Given the description of an element on the screen output the (x, y) to click on. 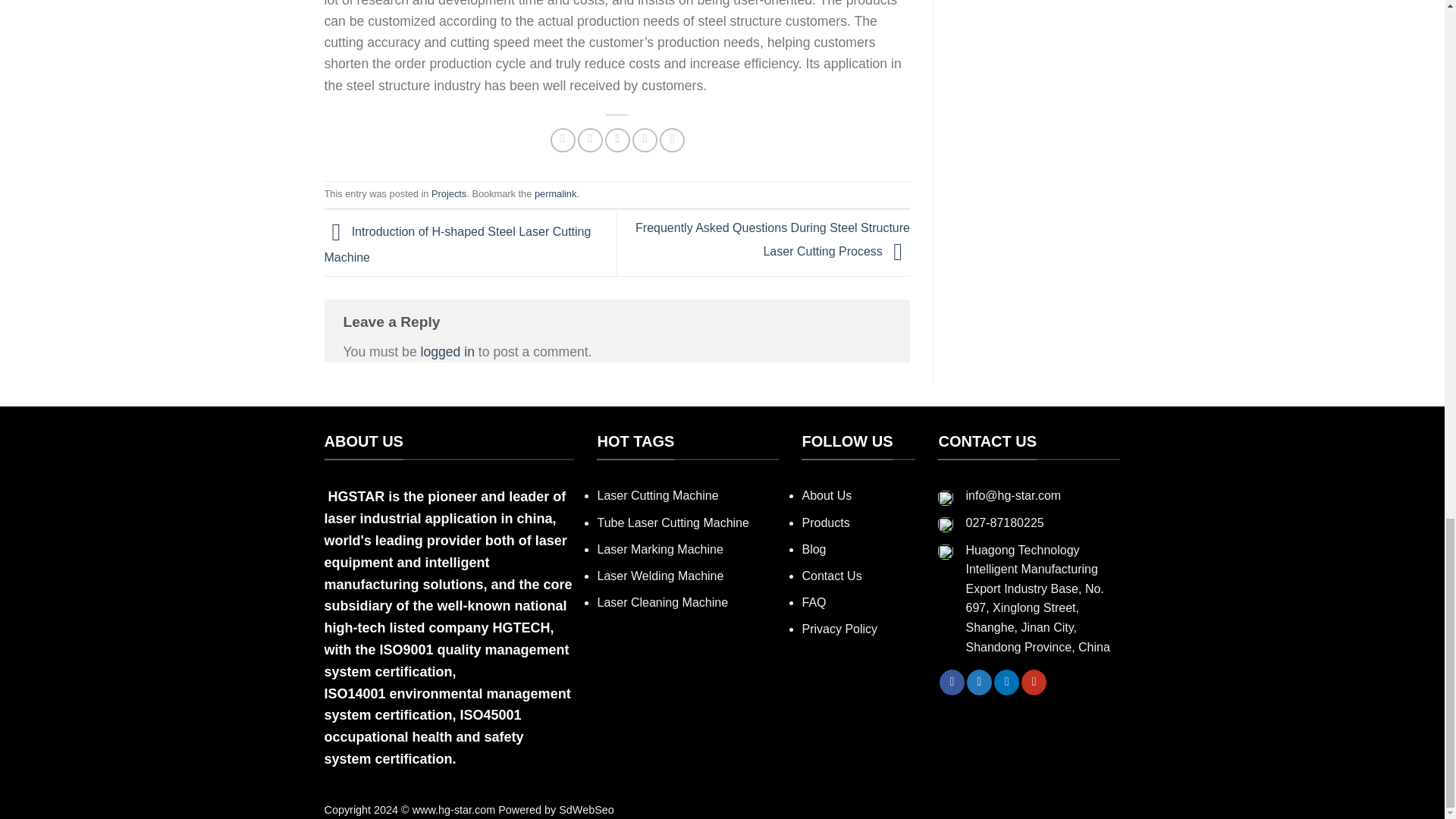
Pin on Pinterest (644, 140)
Follow on LinkedIn (1006, 682)
Follow on Facebook (951, 682)
Follow on YouTube (1034, 682)
Share on LinkedIn (671, 140)
Follow on Twitter (978, 682)
Projects (447, 193)
Email to a Friend (617, 140)
permalink (555, 193)
